Given the description of an element on the screen output the (x, y) to click on. 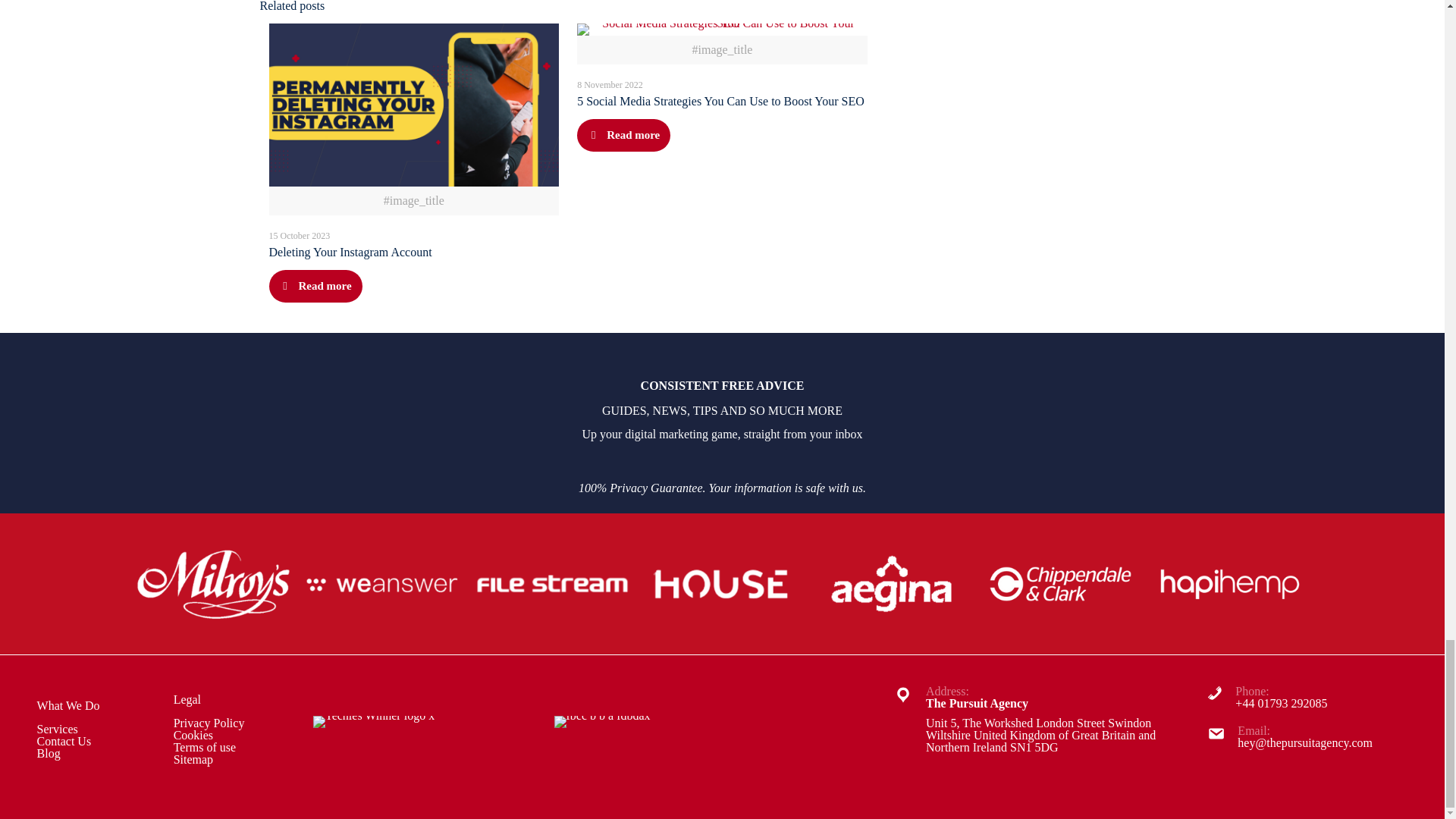
F86bc60c 2b63 47b4 93a4 744f0d7bd77a3x the pursuit agency (601, 721)
Copy of untitled design 3 the pursuit agency (1059, 583)
1 copy the pursuit agency (721, 583)
Read more (622, 134)
Deleting Your Instagram Account (348, 251)
Copy of untitled design 2 the pursuit agency (1229, 583)
5 Social Media Strategies You Can Use to Boost Your SEO (720, 101)
Techies winner logo 2023 13x the pursuit agency (373, 721)
Read more (314, 286)
Pursuit agency client aegina the pursuit agency (890, 583)
Untitled design 17 the pursuit agency (382, 583)
Untitled design 18 the pursuit agency (552, 583)
Untitled design 16 the pursuit agency (213, 583)
